Given the description of an element on the screen output the (x, y) to click on. 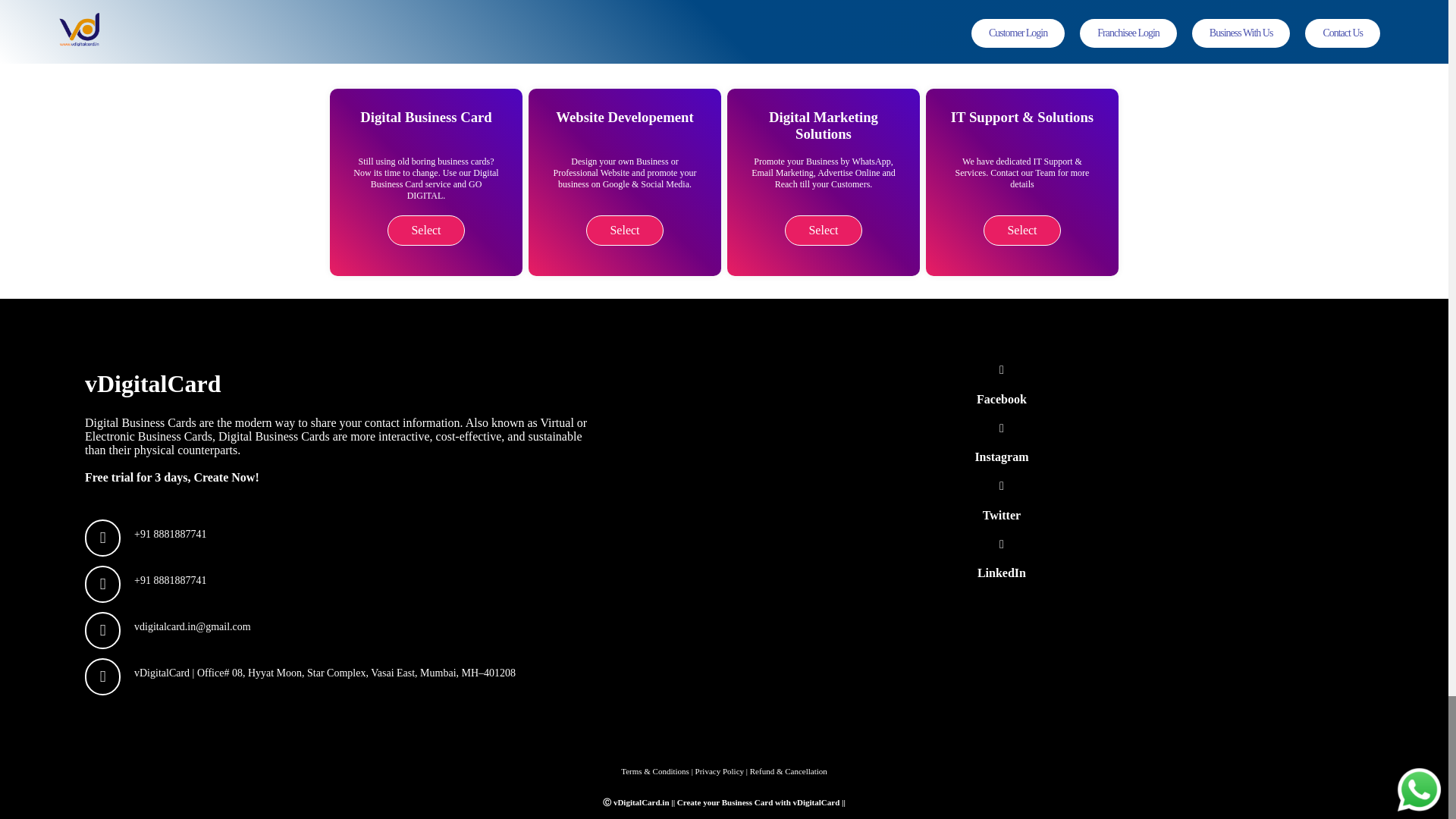
Privacy Policy (720, 770)
Instagram (1001, 443)
Twitter (1001, 500)
Facebook (1001, 384)
LinkedIn (1001, 558)
Free trial for 3 days, Create Now! (171, 477)
